Given the description of an element on the screen output the (x, y) to click on. 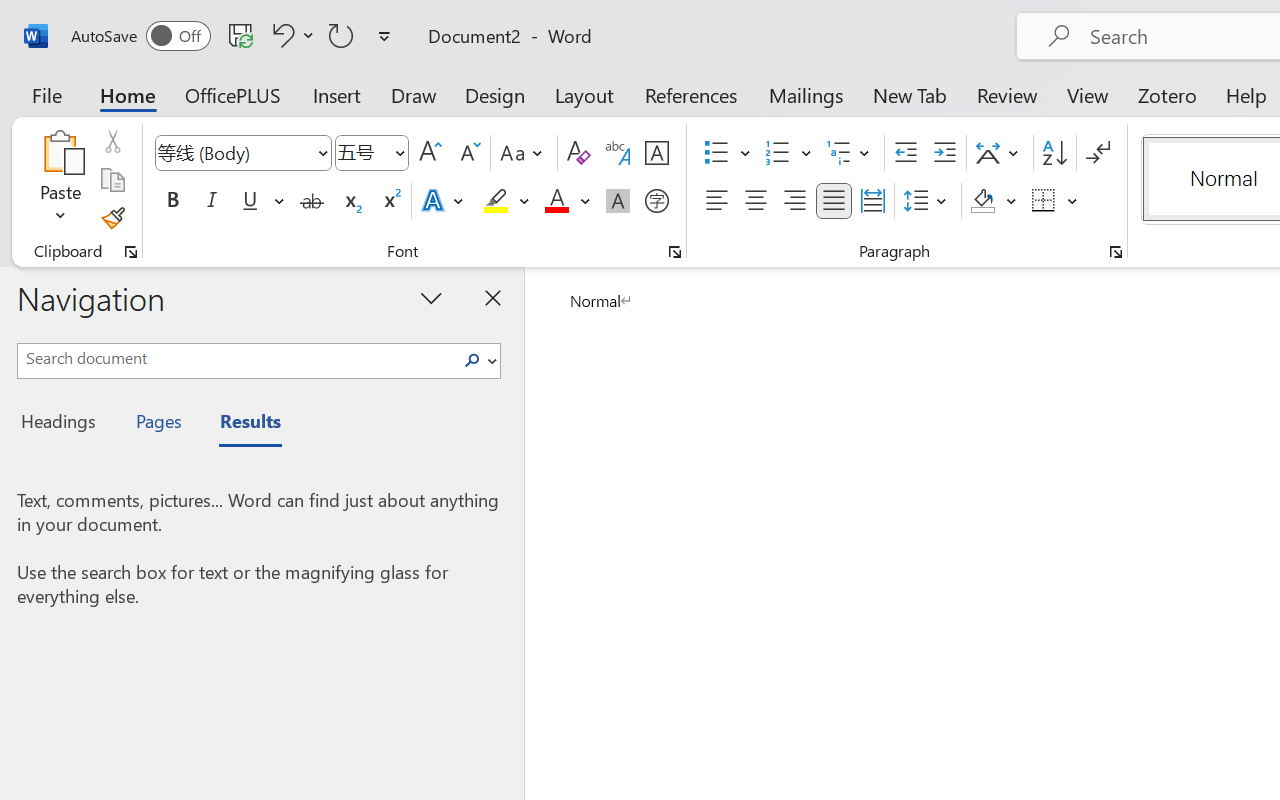
Layout (584, 94)
Superscript (390, 201)
References (690, 94)
File Tab (46, 94)
Results (240, 424)
Enclose Characters... (656, 201)
Font Color Red (556, 201)
OfficePLUS (233, 94)
Multilevel List (850, 153)
Shading RGB(0, 0, 0) (982, 201)
Shrink Font (468, 153)
Home (127, 94)
Text Highlight Color (506, 201)
